Given the description of an element on the screen output the (x, y) to click on. 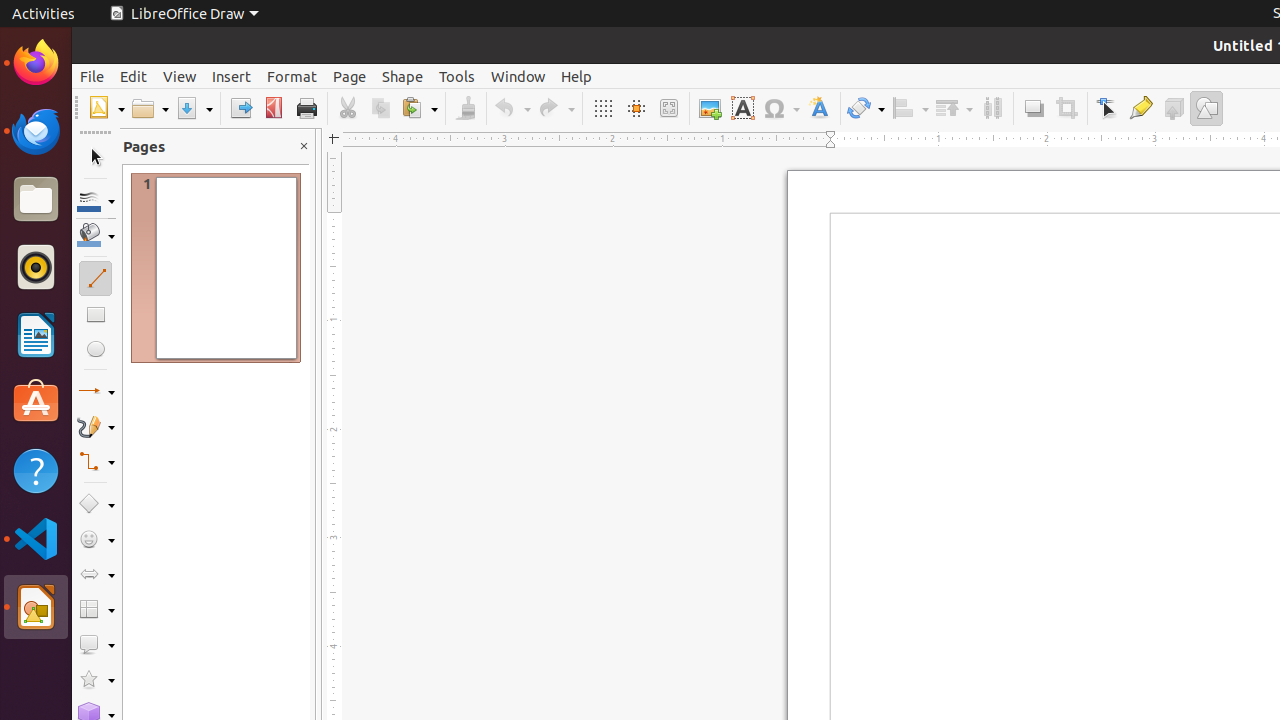
Close Pane Element type: push-button (303, 146)
Edit Element type: menu (133, 76)
Draw Functions Element type: toggle-button (1206, 108)
File Element type: menu (92, 76)
Visual Studio Code Element type: push-button (36, 538)
